Given the description of an element on the screen output the (x, y) to click on. 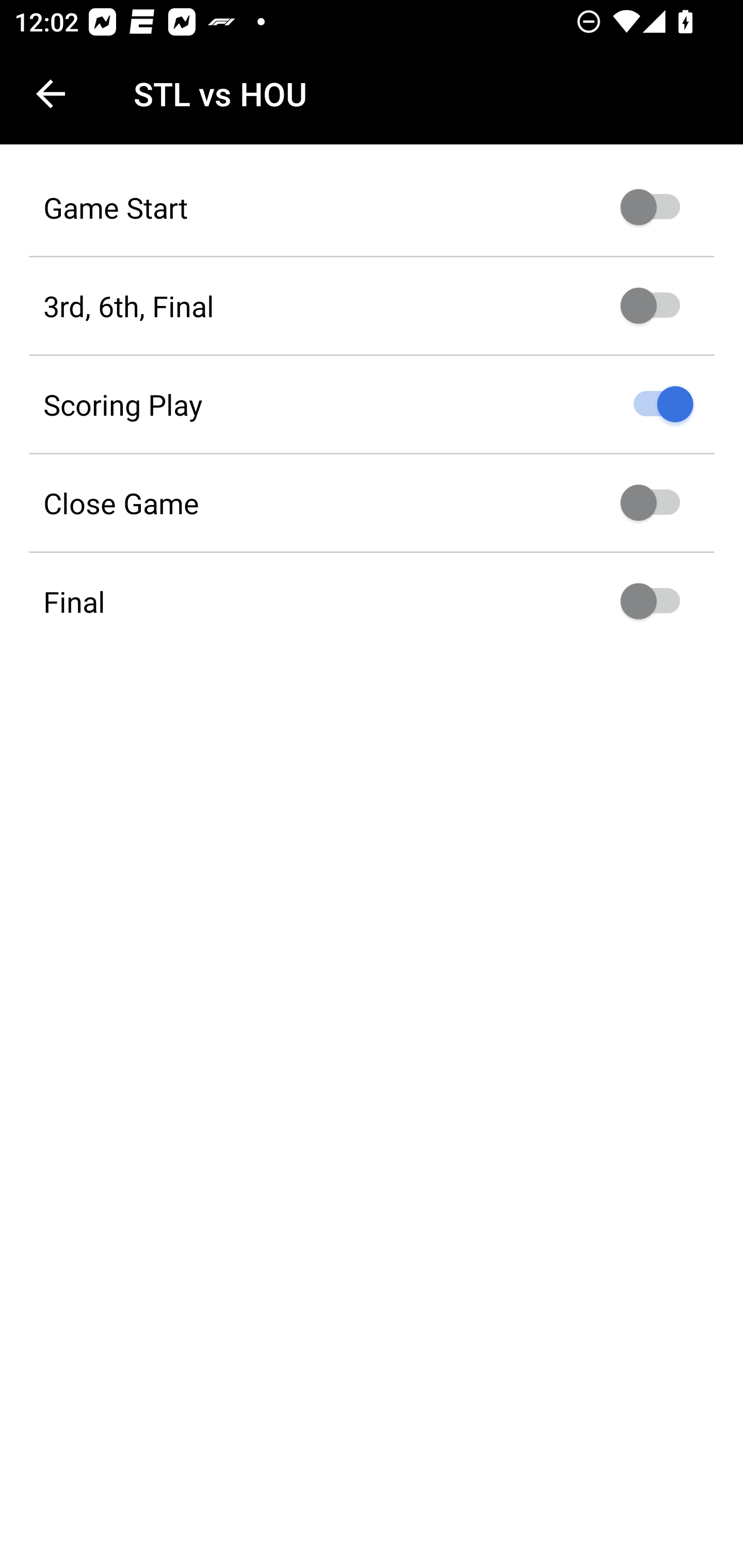
Navigate up (50, 93)
